Given the description of an element on the screen output the (x, y) to click on. 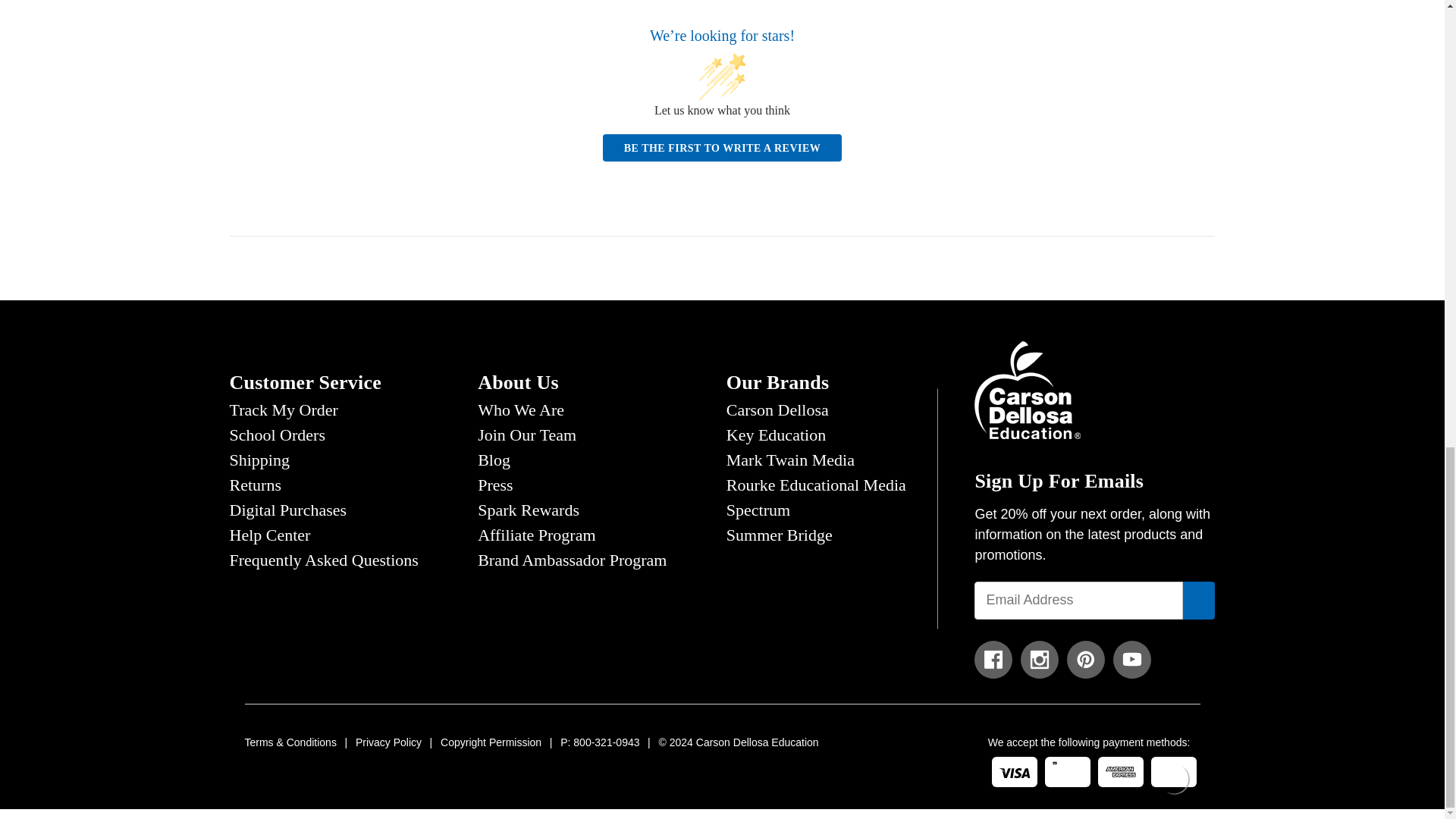
CarsonDellosa.com (1027, 388)
Facebook (992, 659)
Youtube (1132, 659)
Instagram (1039, 659)
Pinterest (1086, 659)
